Given the description of an element on the screen output the (x, y) to click on. 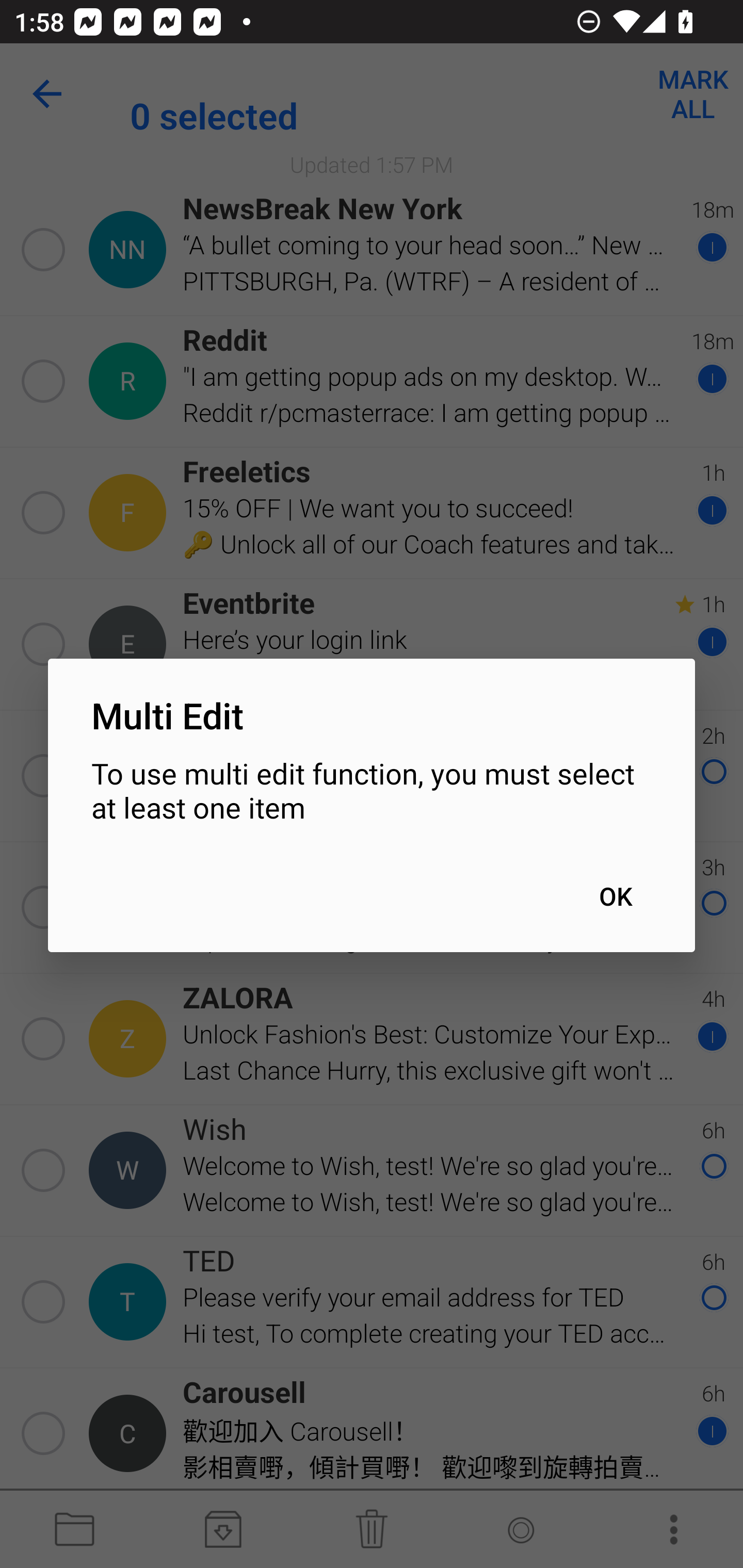
OK (615, 895)
